Given the description of an element on the screen output the (x, y) to click on. 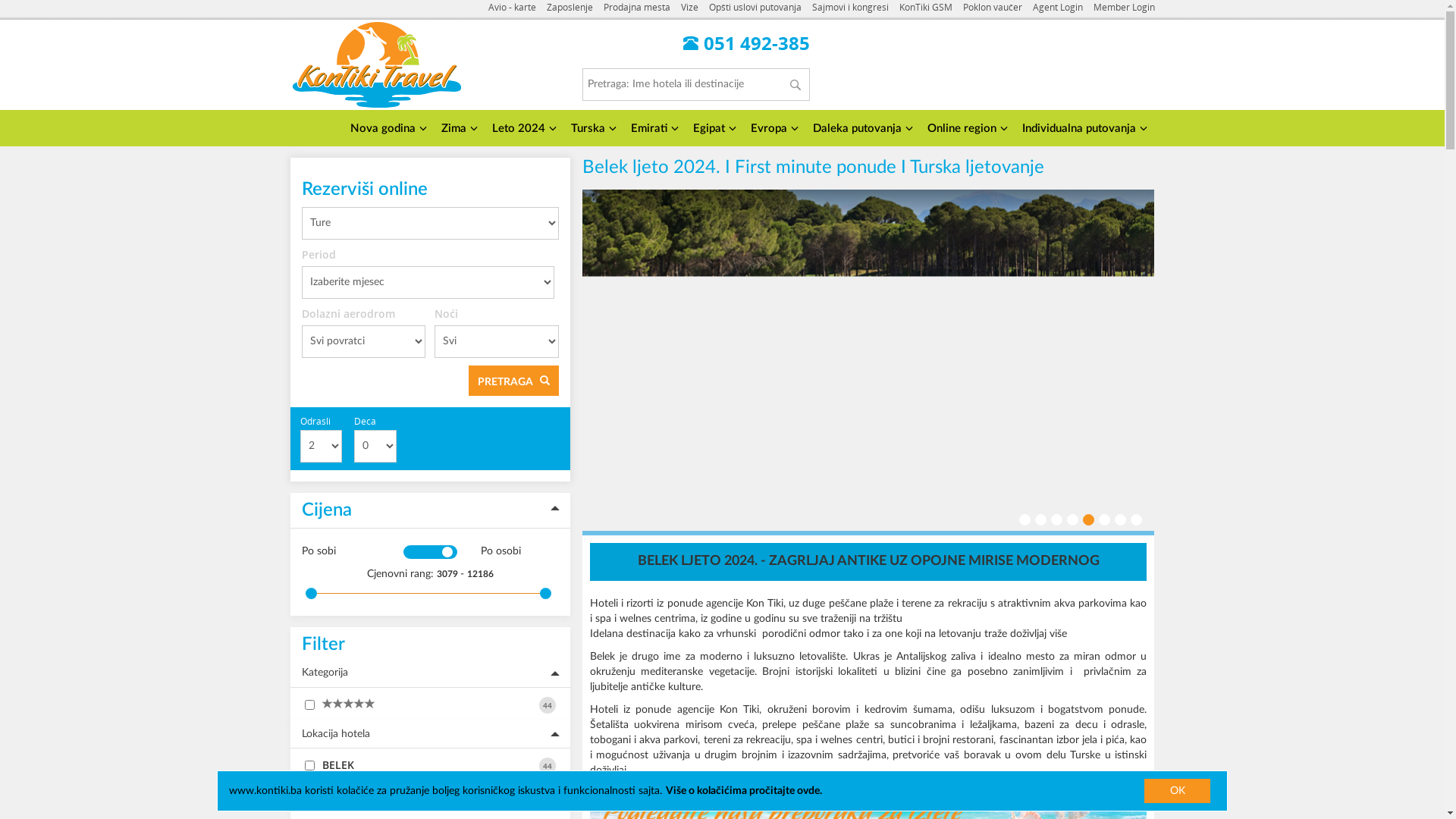
Vize Element type: text (689, 7)
Zaposlenje Element type: text (569, 7)
Cijena Element type: text (429, 510)
Online region Element type: text (964, 128)
Member Login Element type: text (1123, 7)
Prodajna mesta Element type: text (636, 7)
Vrste usluge Element type: text (429, 794)
Kategorija Element type: text (429, 672)
KonTiki GSM Element type: text (925, 7)
Daleka putovanja Element type: text (860, 128)
Zima Element type: text (457, 128)
Turska Element type: text (590, 128)
Leto 2024 Element type: text (521, 128)
Avio - karte Element type: text (512, 7)
Egipat Element type: text (712, 128)
Agent Login Element type: text (1057, 7)
Sajmovi i kongresi Element type: text (849, 7)
Individualna putovanja Element type: text (1082, 128)
Evropa Element type: text (772, 128)
Emirati Element type: text (652, 128)
PRETRAGA Element type: text (513, 380)
OK Element type: text (1177, 790)
Nova godina Element type: text (386, 128)
Lokacija hotela Element type: text (429, 733)
